Given the description of an element on the screen output the (x, y) to click on. 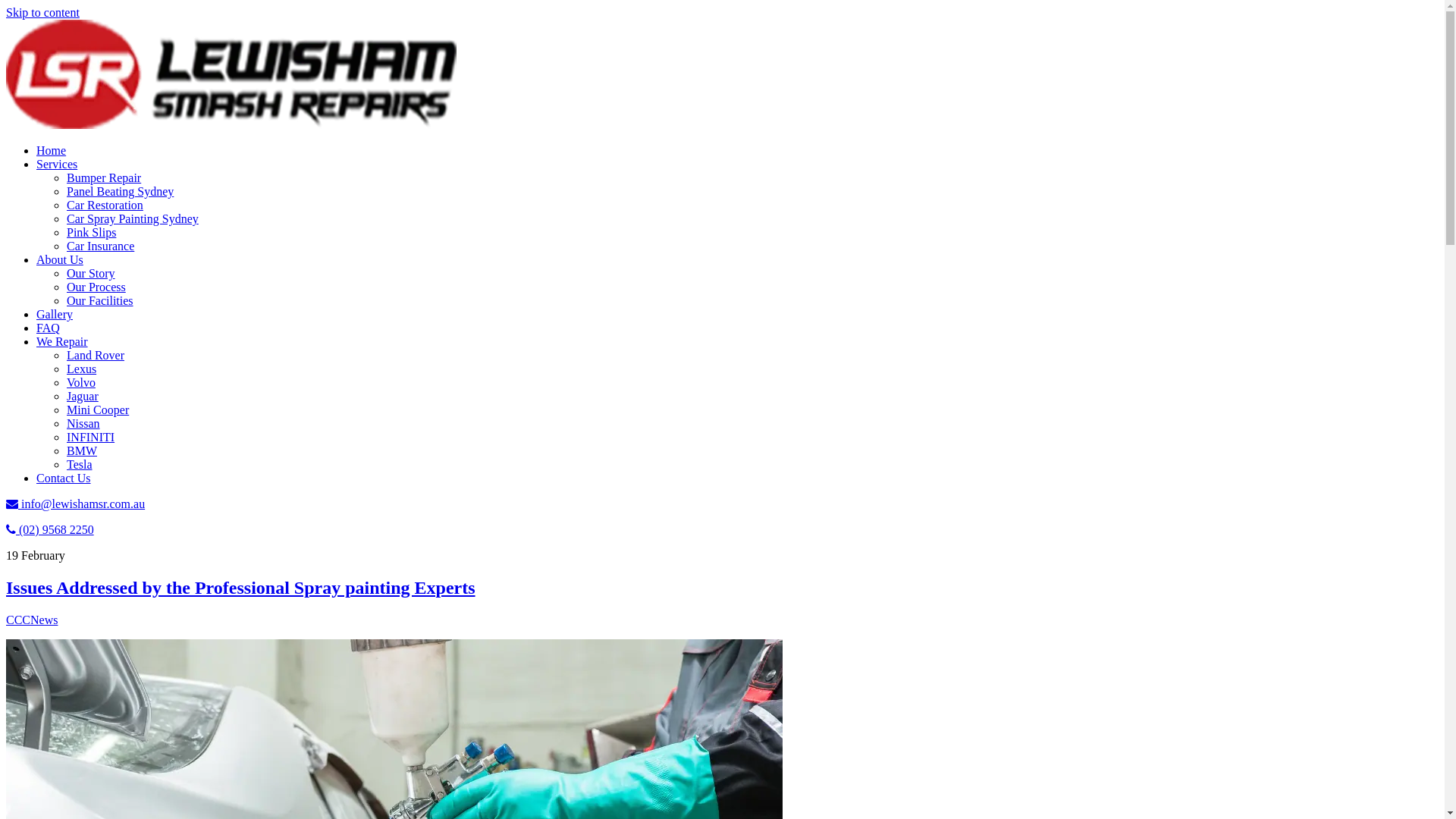
Our Facilities Element type: text (99, 300)
Car Spray Painting Sydney Element type: text (132, 218)
Volvo Element type: text (80, 382)
Gallery Element type: text (54, 313)
Lewisham Smash Repairs Element type: hover (231, 124)
layer-29@3x Element type: hover (231, 73)
BMW Element type: text (81, 450)
Skip to content Element type: text (42, 12)
Tesla Element type: text (79, 464)
We Repair Element type: text (61, 341)
Services Element type: text (56, 163)
Car Restoration Element type: text (104, 204)
CCC Element type: text (18, 619)
Nissan Element type: text (83, 423)
Pink Slips Element type: text (91, 231)
Car Insurance Element type: text (100, 245)
Our Story Element type: text (90, 272)
News Element type: text (43, 619)
Our Process Element type: text (95, 286)
Issues Addressed by the Professional Spray painting Experts Element type: text (240, 587)
About Us Element type: text (59, 259)
Land Rover Element type: text (95, 354)
Bumper Repair Element type: text (103, 177)
info@lewishamsr.com.au Element type: text (75, 503)
Mini Cooper Element type: text (97, 409)
FAQ Element type: text (47, 327)
(02) 9568 2250 Element type: text (50, 529)
Home Element type: text (50, 150)
Jaguar Element type: text (82, 395)
Lexus Element type: text (81, 368)
INFINITI Element type: text (90, 436)
Contact Us Element type: text (63, 477)
Panel Beating Sydney Element type: text (119, 191)
